Given the description of an element on the screen output the (x, y) to click on. 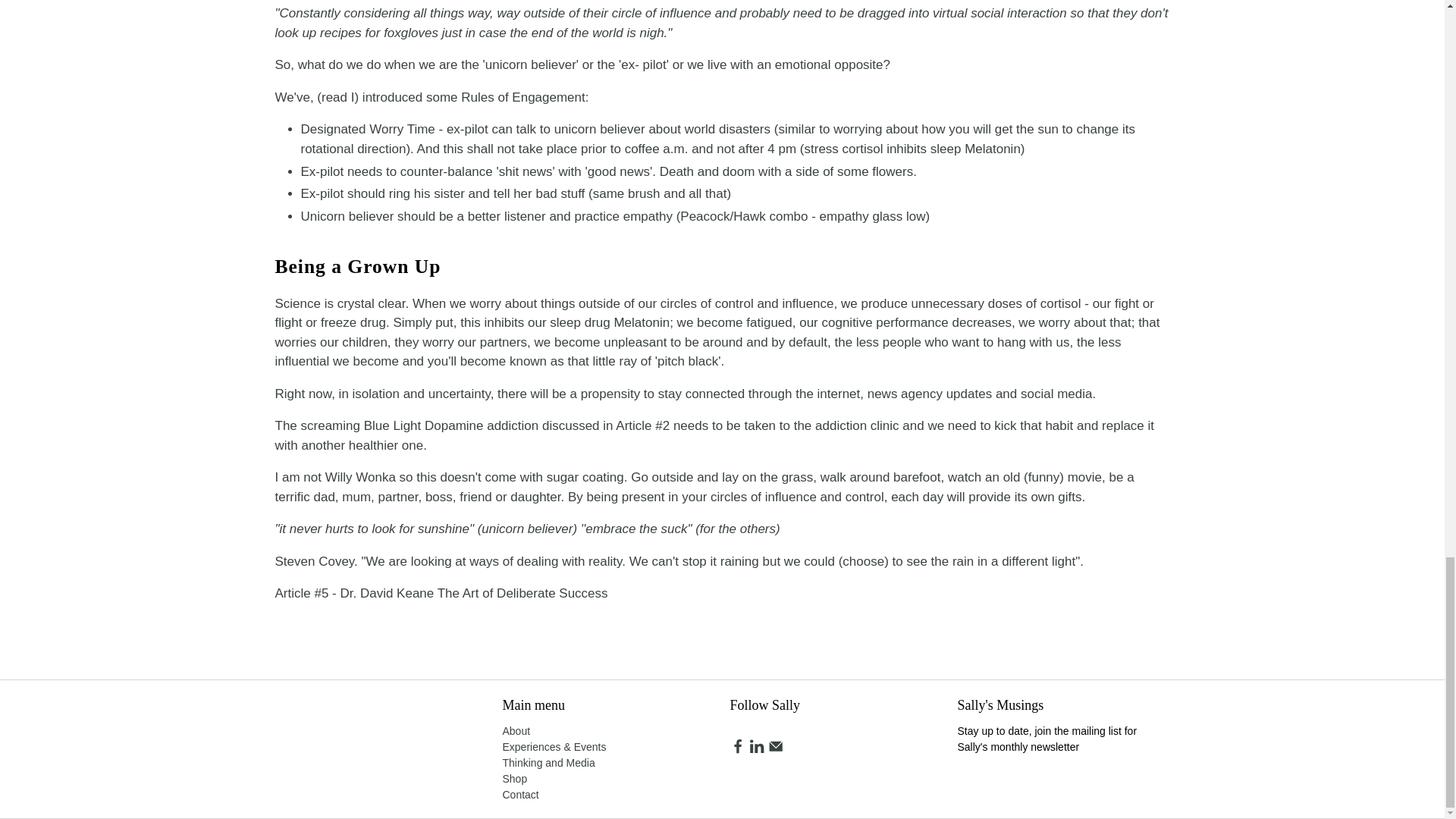
SallyDuxfield on Facebook (736, 749)
Email SallyDuxfield (775, 749)
SallyDuxfield on LinkedIn (756, 749)
SallyDuxfield (338, 718)
